Given the description of an element on the screen output the (x, y) to click on. 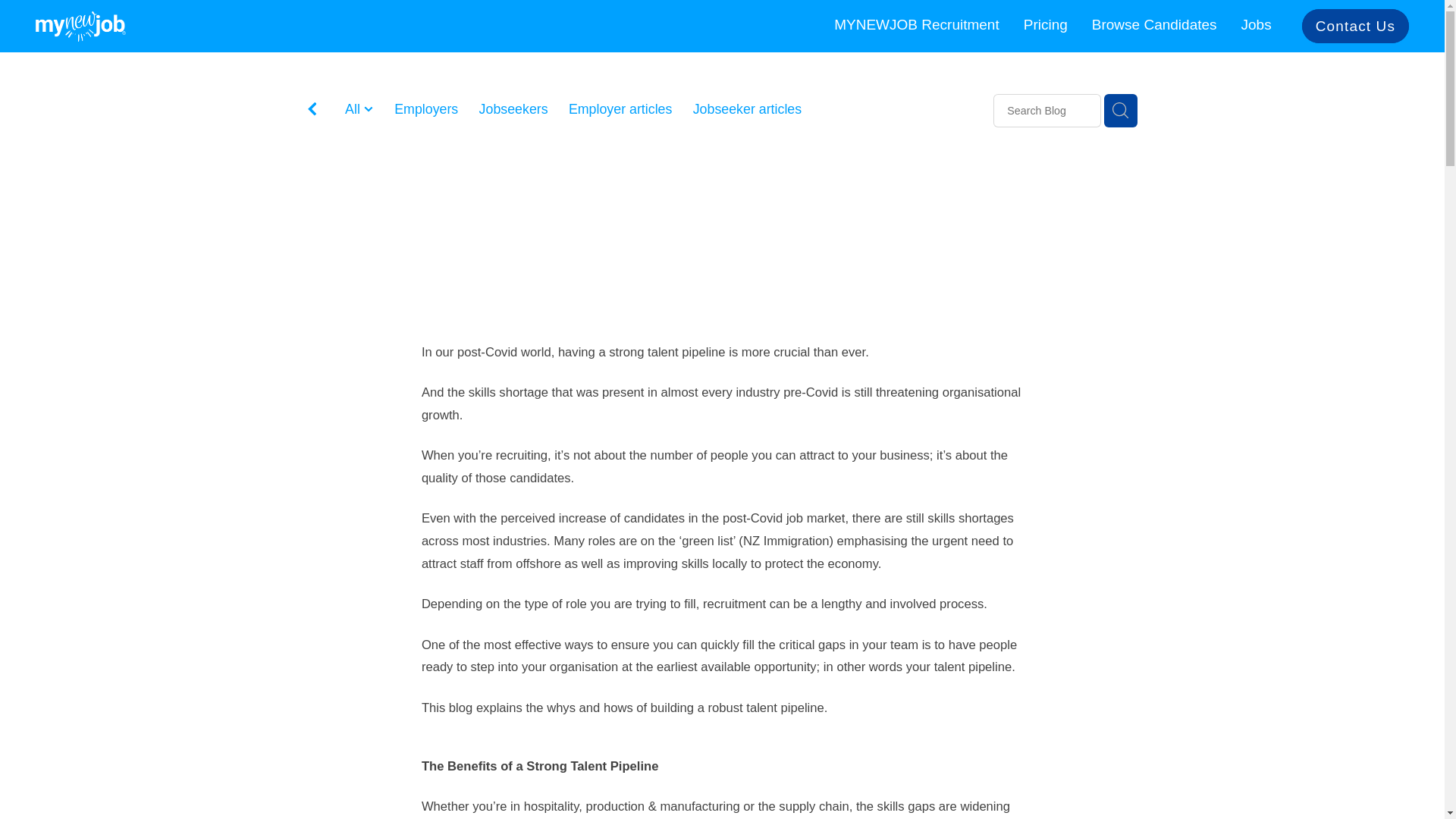
Contact Us (1355, 26)
Business productivity tools (424, 130)
Browse Candidates (1154, 24)
FAQ Job Board (817, 130)
Employers (426, 109)
Jobseeker articles (747, 109)
Pricing (1045, 24)
Jobseekers (513, 109)
Employer articles (620, 109)
All (354, 109)
